Given the description of an element on the screen output the (x, y) to click on. 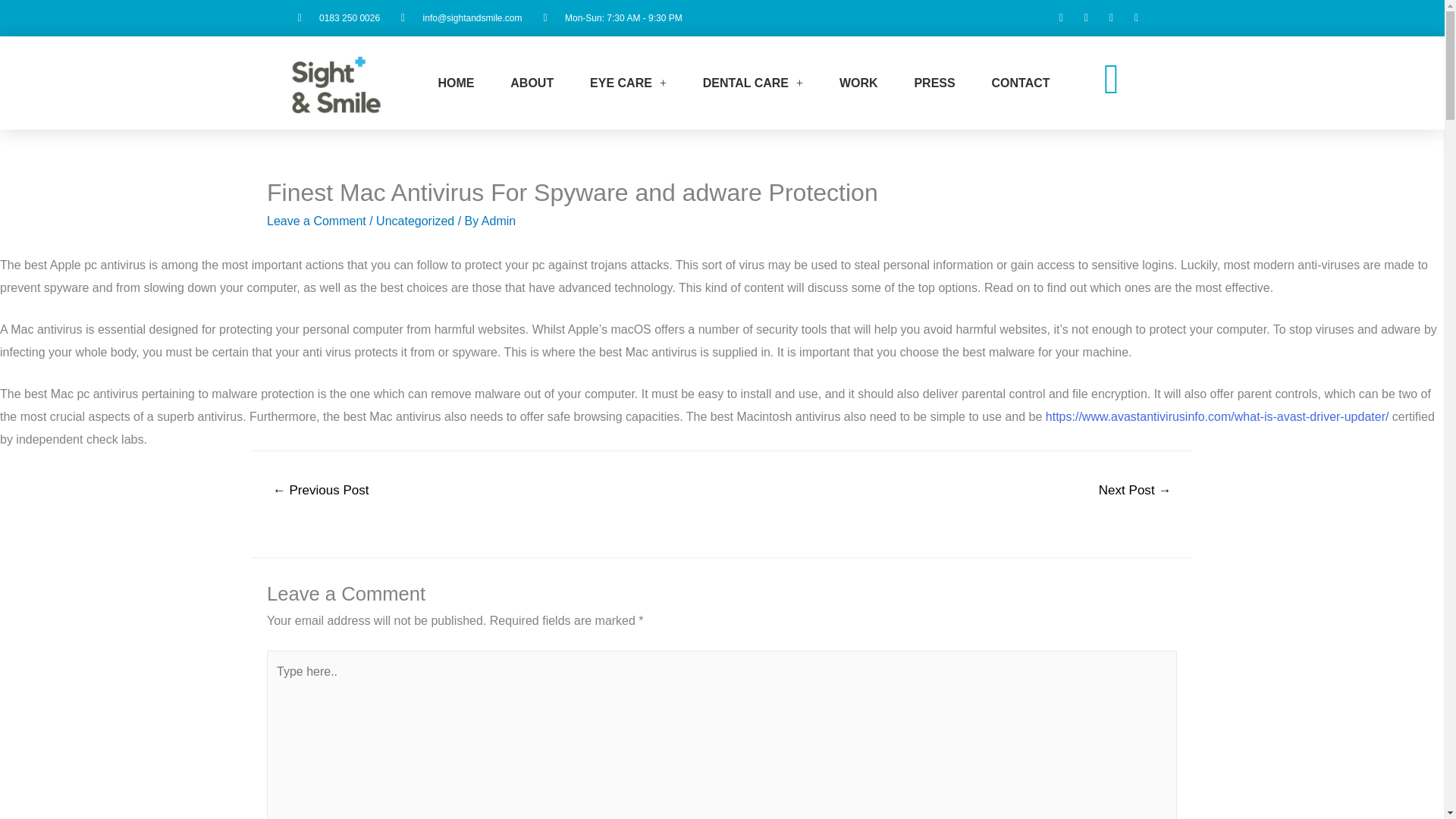
Leave a Comment (316, 220)
HOME (456, 83)
WORK (858, 83)
ABOUT (532, 83)
CONTACT (1021, 83)
View all posts by Admin (498, 220)
EYE CARE (628, 83)
PRESS (933, 83)
DENTAL CARE (752, 83)
